Given the description of an element on the screen output the (x, y) to click on. 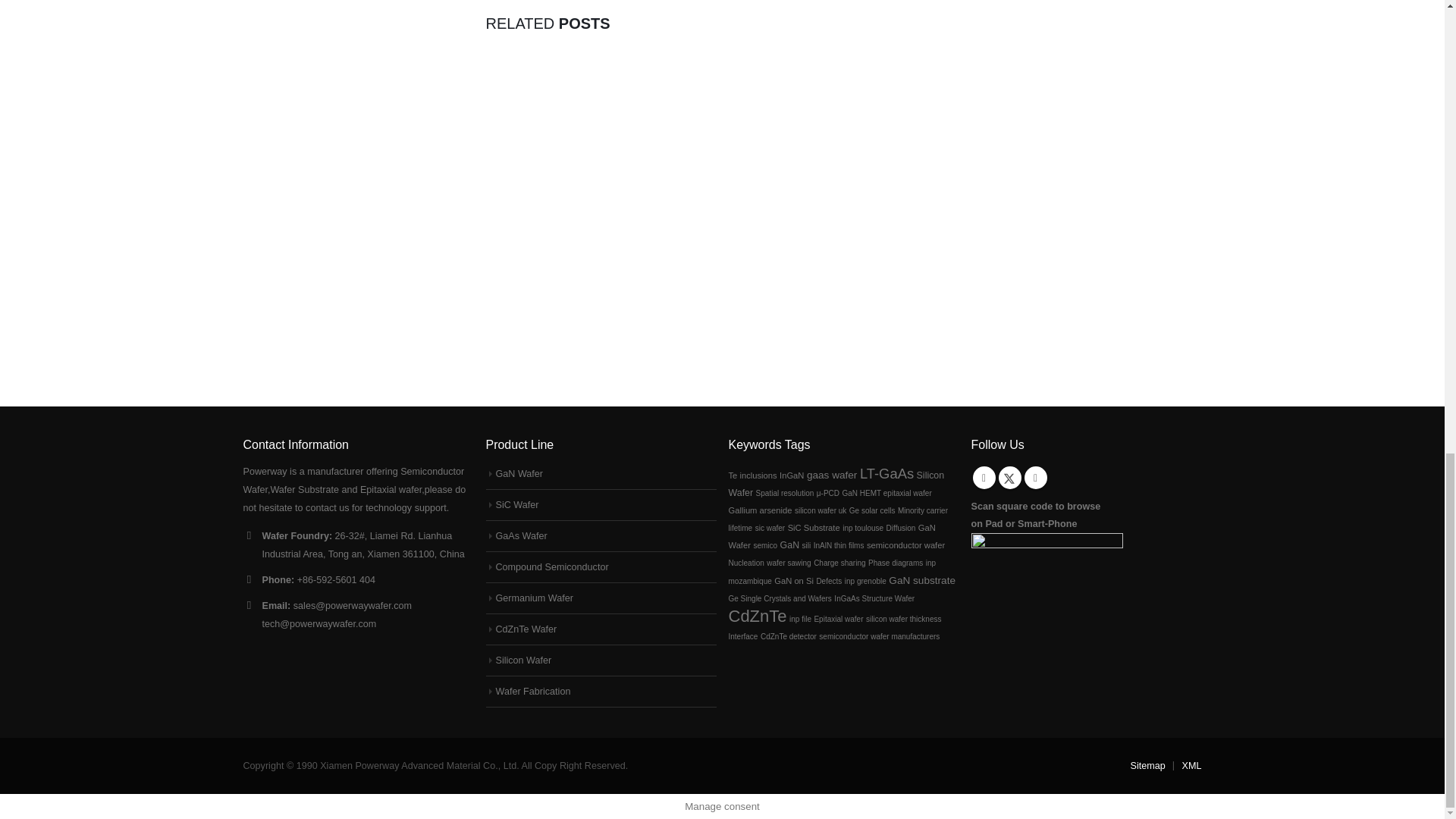
9 topics (887, 473)
3 topics (752, 474)
1 topics (784, 492)
4 topics (835, 483)
3 topics (790, 474)
5 topics (831, 474)
